Given the description of an element on the screen output the (x, y) to click on. 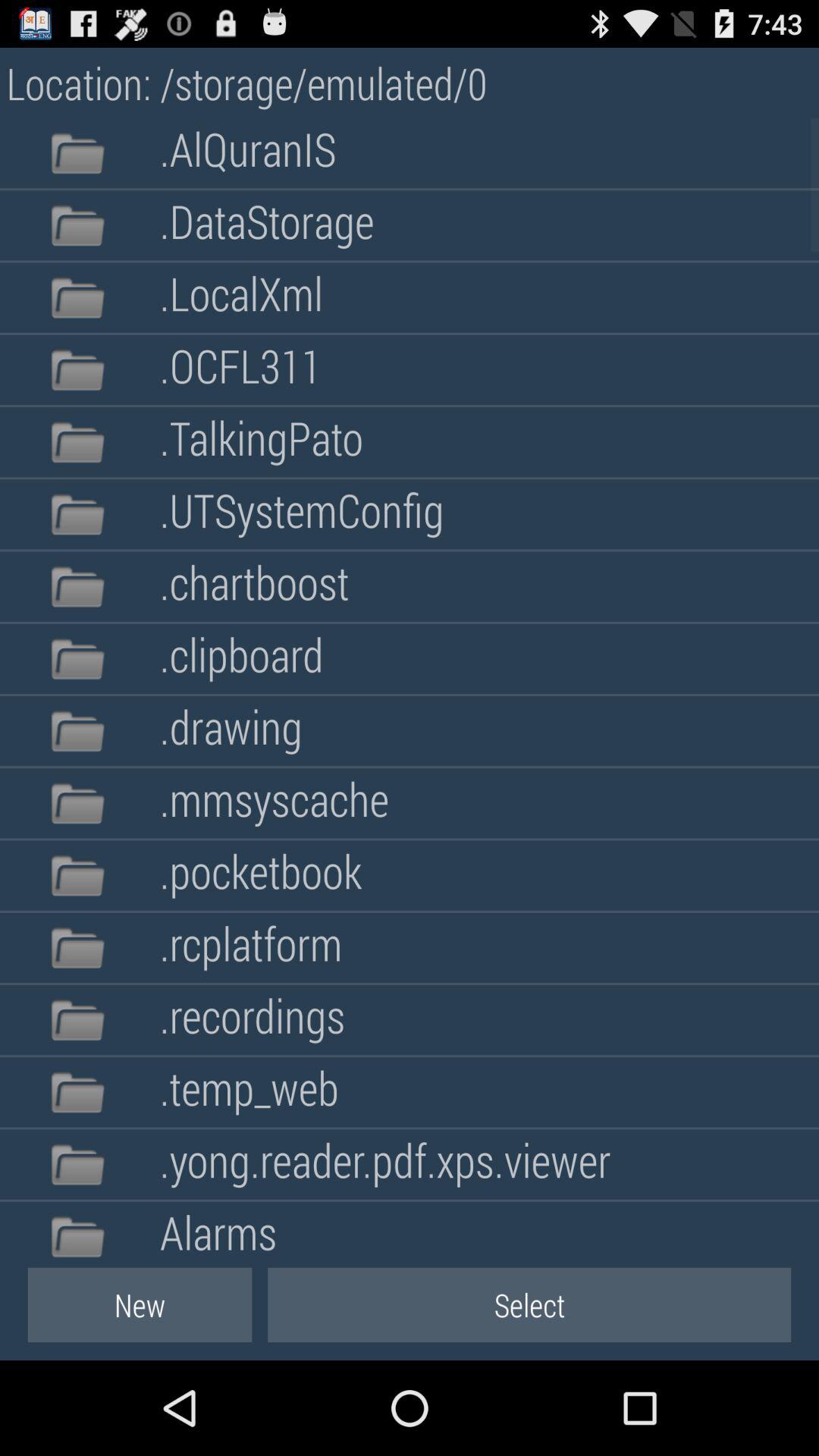
tap app below the location storage emulated icon (247, 153)
